Given the description of an element on the screen output the (x, y) to click on. 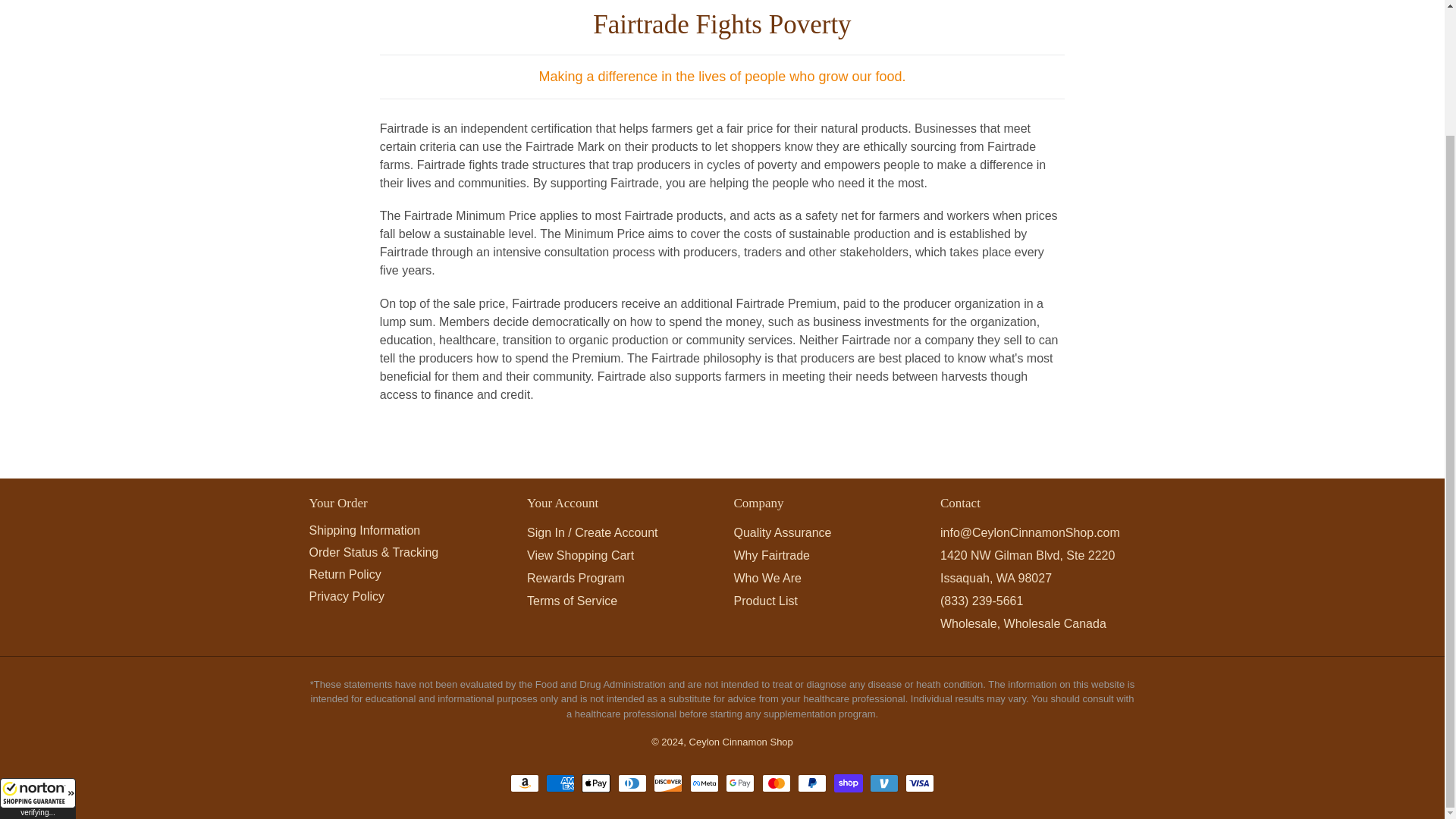
Wholesale (968, 623)
Quality Assurance (782, 532)
Terms of Service (572, 600)
Rewards Program (575, 577)
Shipping Information (364, 530)
Unused iFrame 1 (37, 646)
Privacy Policy (346, 595)
Why Fairtrade (771, 554)
Rewards Program (575, 577)
View Shopping Cart (580, 554)
